Given the description of an element on the screen output the (x, y) to click on. 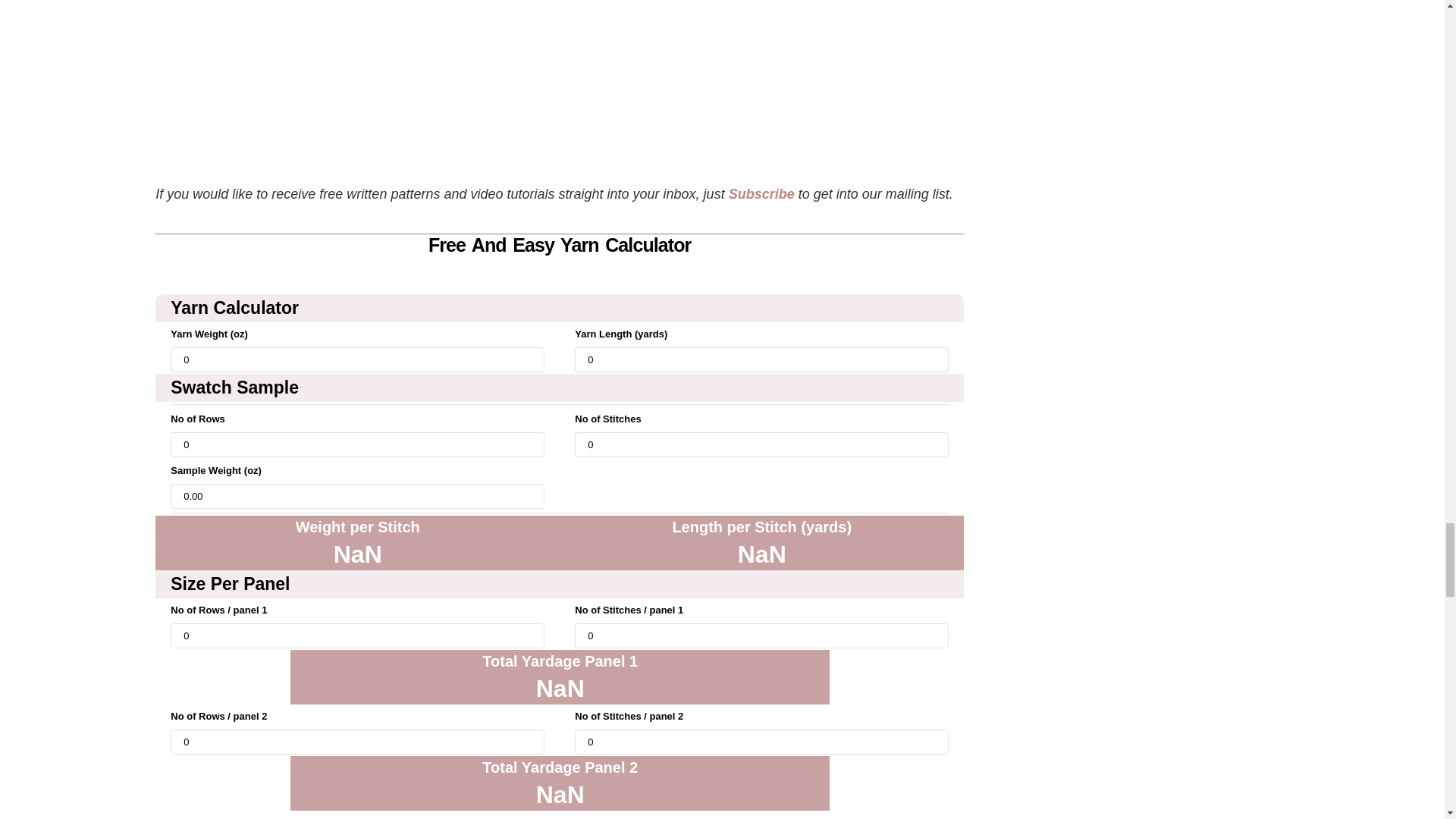
0 (762, 444)
0 (357, 359)
Subscribe (761, 193)
0 (357, 635)
0 (762, 635)
0 (357, 741)
0.00 (357, 496)
0 (357, 444)
0 (762, 359)
0 (762, 741)
